Given the description of an element on the screen output the (x, y) to click on. 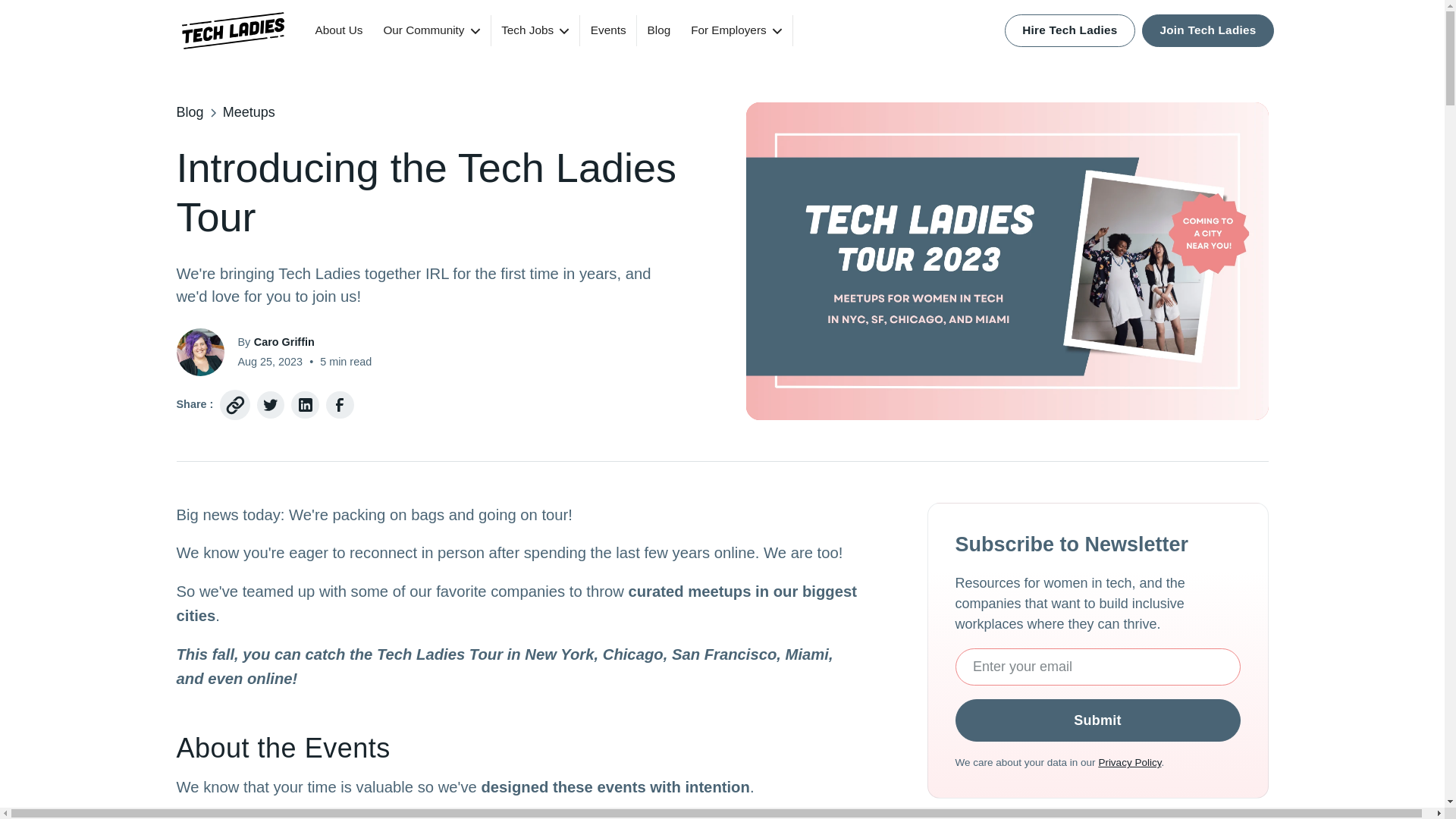
About Us (338, 30)
Events (608, 30)
Hire Tech Ladies (1069, 30)
Blog (189, 112)
Share on Facebook (339, 405)
Blog (659, 30)
Join Tech Ladies (1207, 30)
Submit (1097, 720)
Meetups (248, 112)
Caro Griffin (283, 342)
Tweet (271, 405)
